Given the description of an element on the screen output the (x, y) to click on. 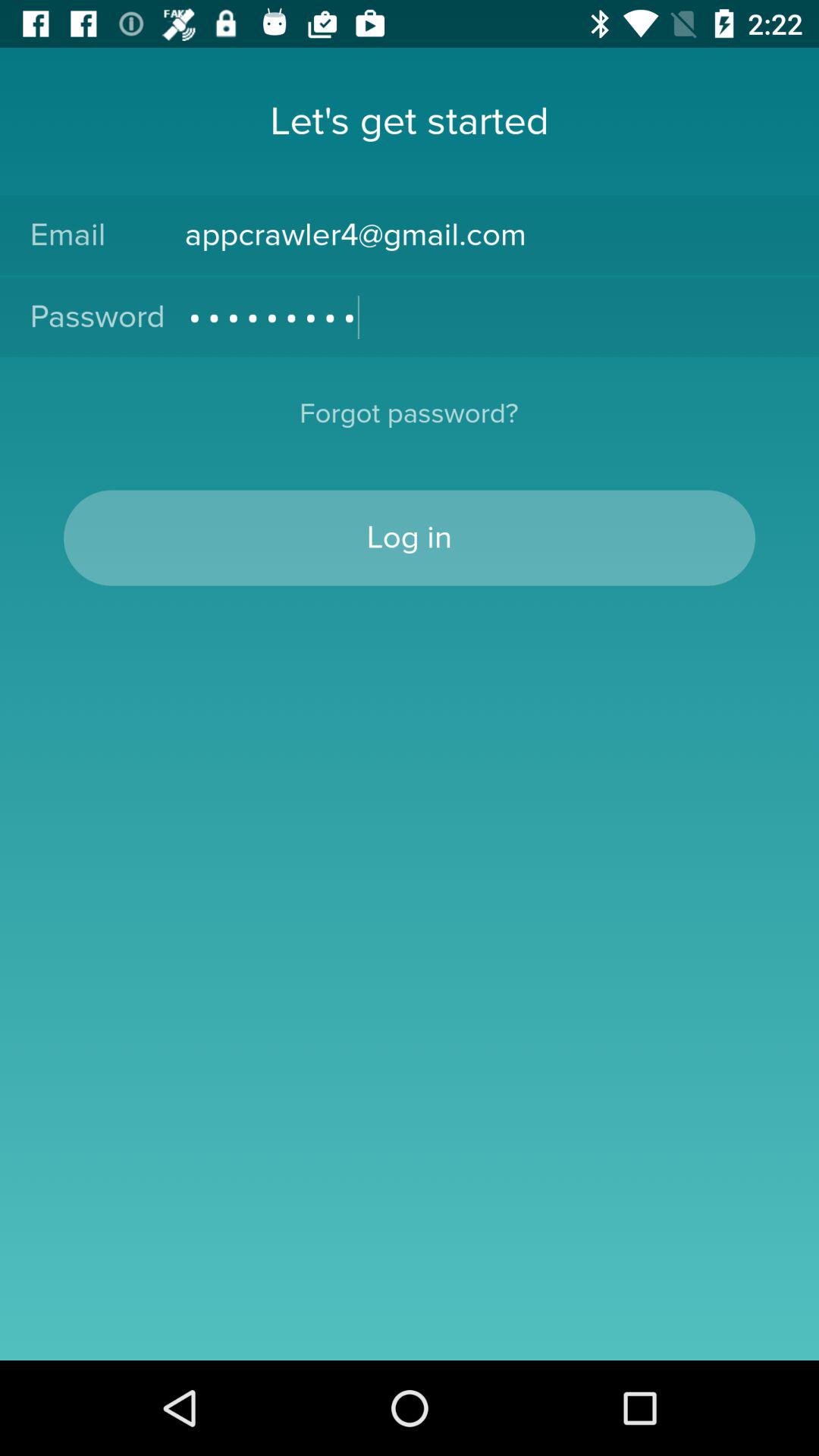
swipe until the forgot password? (408, 423)
